Given the description of an element on the screen output the (x, y) to click on. 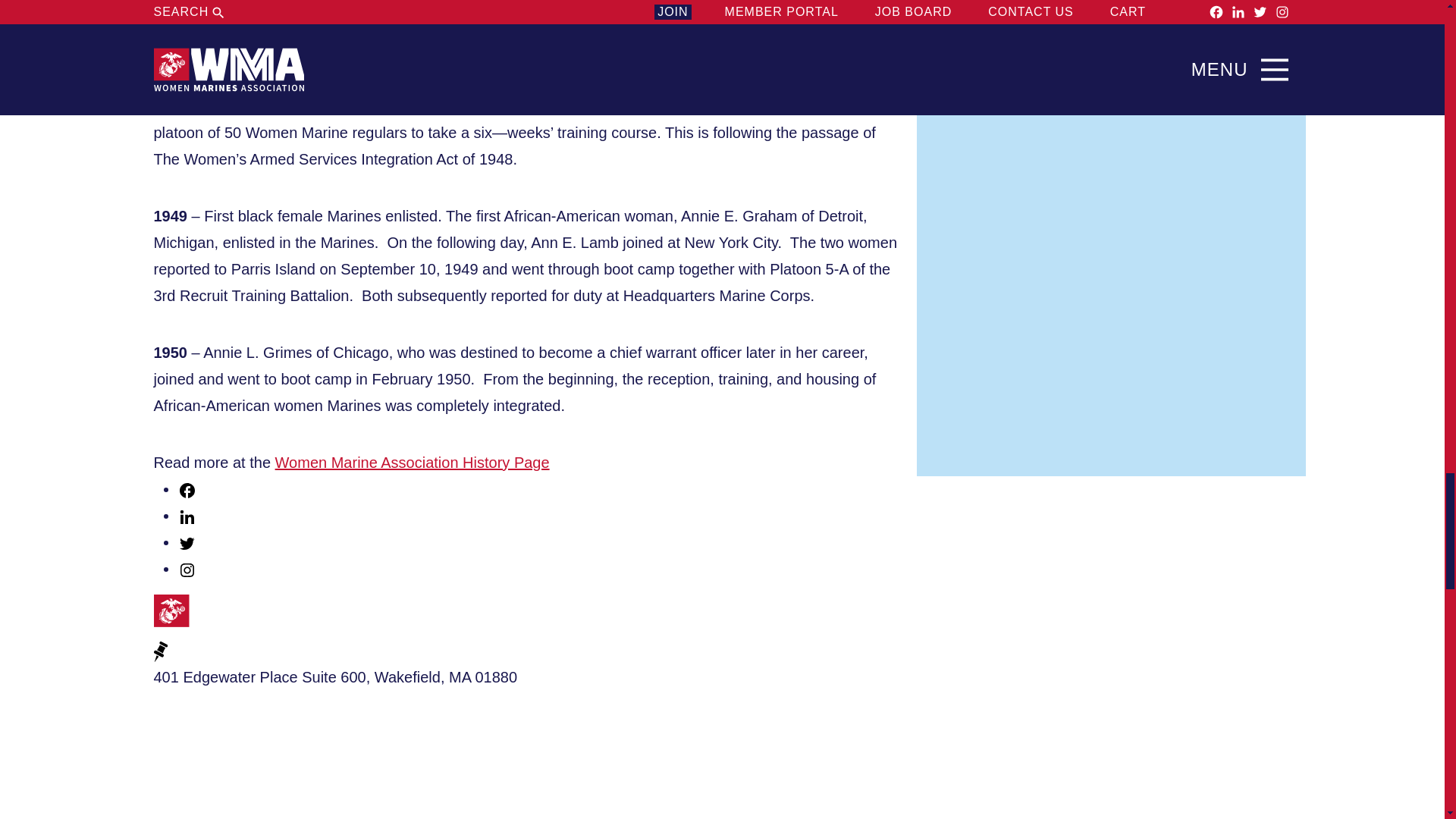
Twitter (186, 541)
Women Marines Association (227, 616)
Facebook (186, 488)
Twitter (186, 543)
Instagram (186, 568)
Linkedin (186, 515)
Linkedin (186, 516)
